Given the description of an element on the screen output the (x, y) to click on. 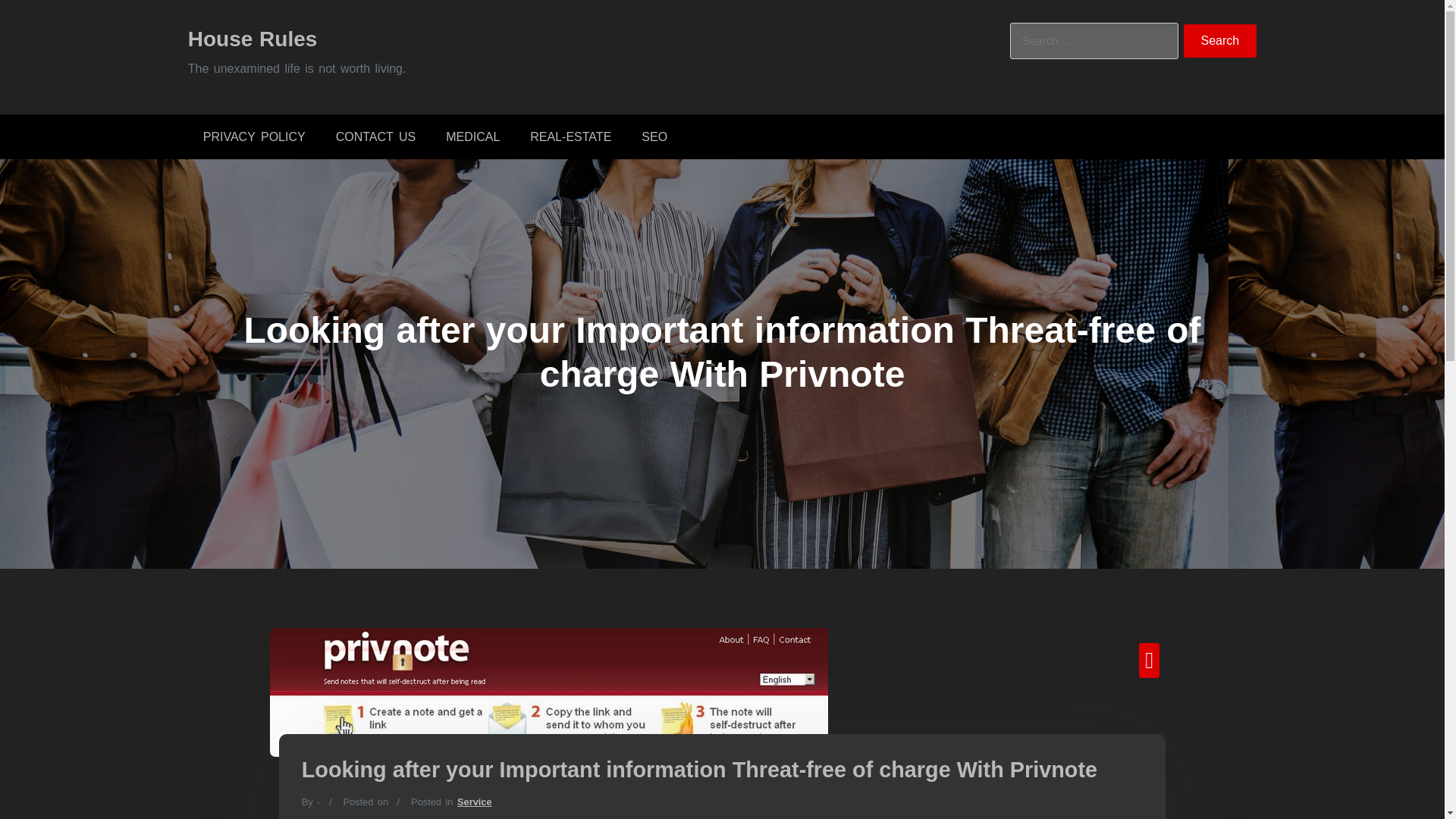
Service (474, 801)
SEO (654, 136)
PRIVACY POLICY (253, 136)
Search (1220, 40)
REAL-ESTATE (570, 136)
House Rules (252, 38)
CONTACT US (375, 136)
Search (1220, 40)
Search (1220, 40)
MEDICAL (472, 136)
